Given the description of an element on the screen output the (x, y) to click on. 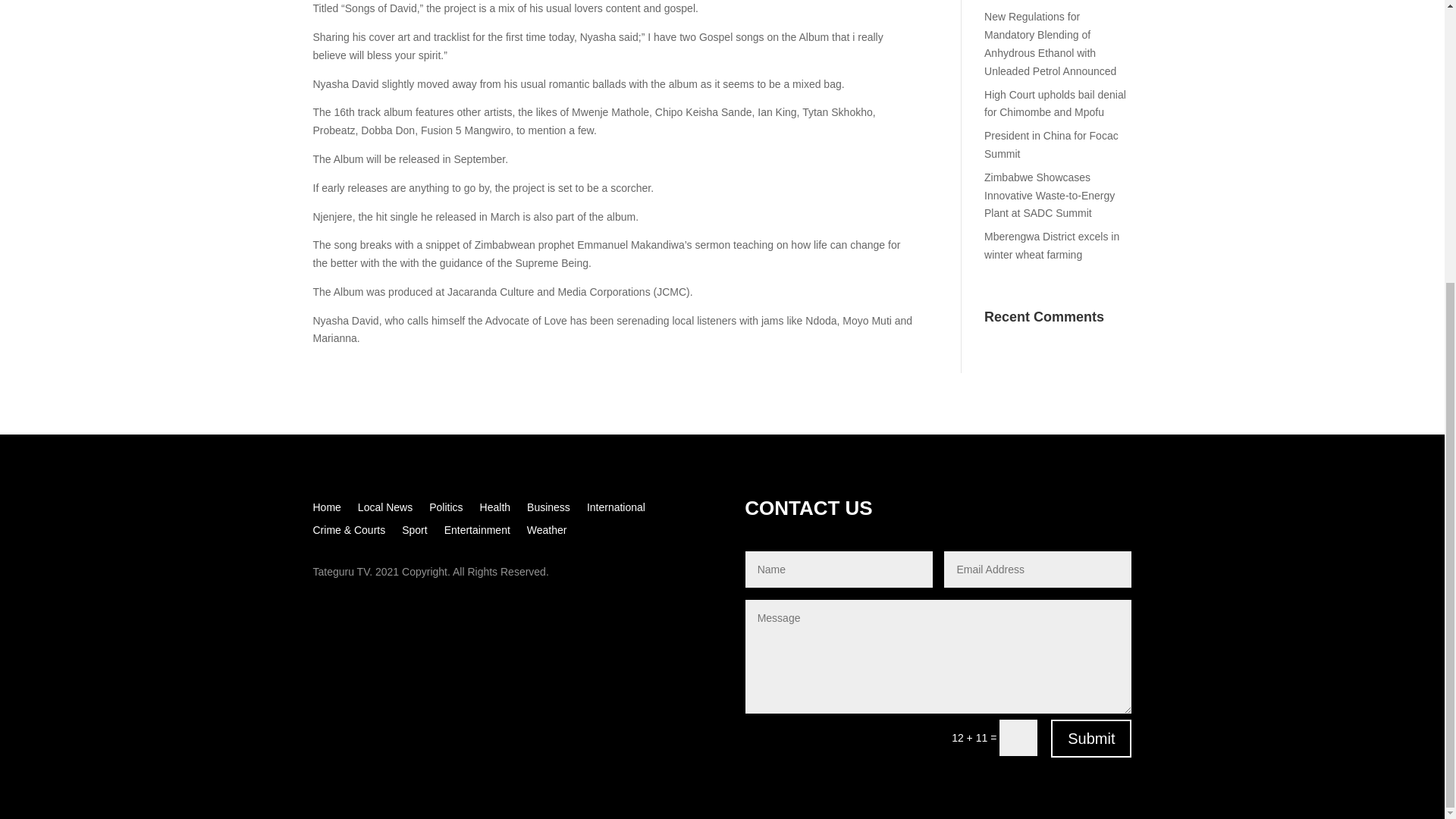
Local News (385, 510)
President in China for Focac Summit (1051, 144)
Mberengwa District excels in winter wheat farming (1051, 245)
Politics (446, 510)
High Court upholds bail denial for Chimombe and Mpofu (1054, 103)
Home (326, 510)
